Given the description of an element on the screen output the (x, y) to click on. 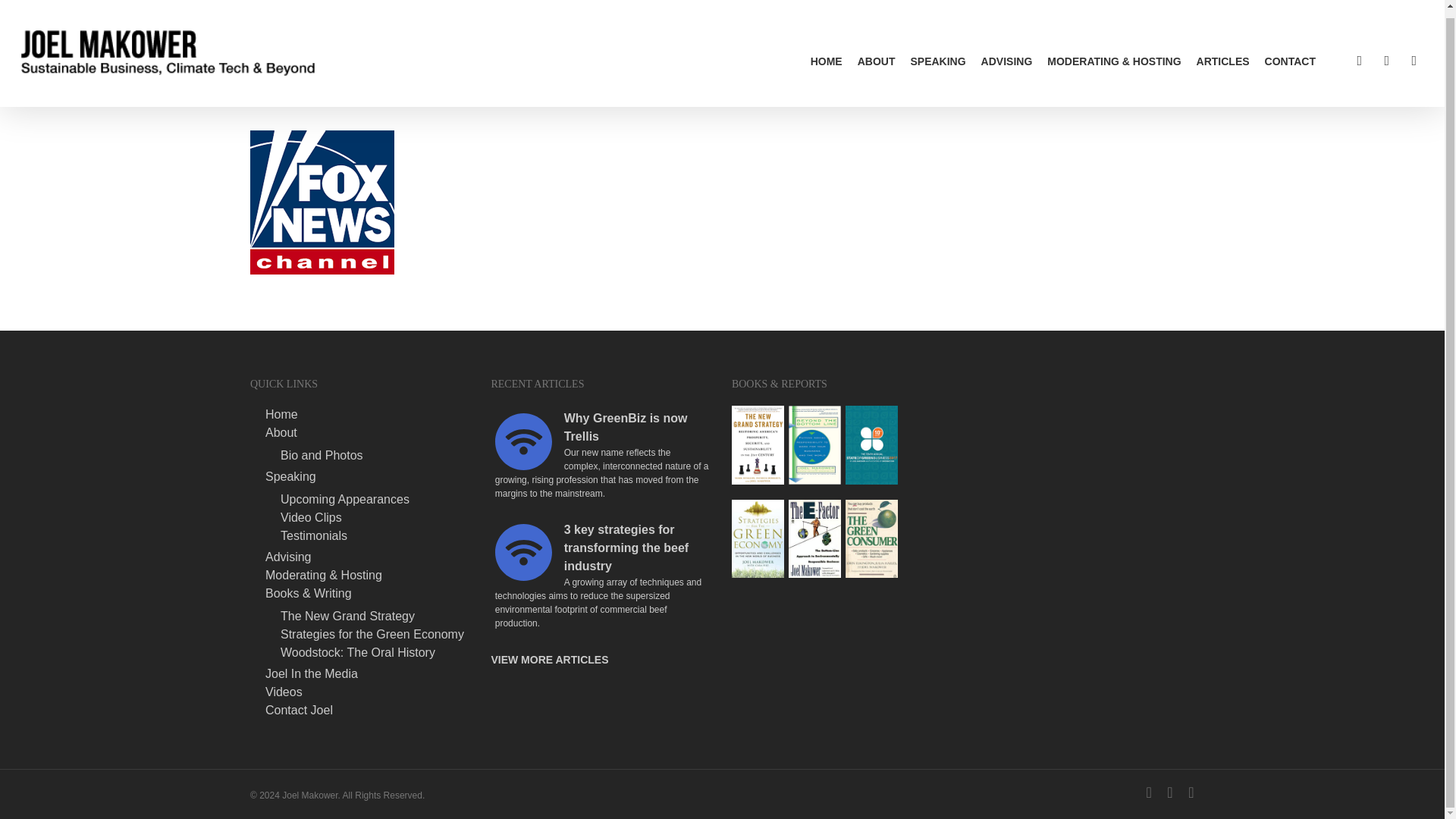
Home (367, 414)
Contact Joel (367, 710)
Videos (367, 692)
Why GreenBiz is now Trellis (523, 441)
3 key strategies for transforming the beef industry (602, 547)
Woodstock: The Oral History (376, 653)
Bio and Photos (376, 455)
Advising (367, 557)
Why GreenBiz is now Trellis (602, 427)
Joel In the Media (367, 674)
SPEAKING (937, 54)
VIEW MORE ARTICLES (549, 659)
Video Clips (376, 517)
Upcoming Appearances (376, 499)
HOME (826, 54)
